Given the description of an element on the screen output the (x, y) to click on. 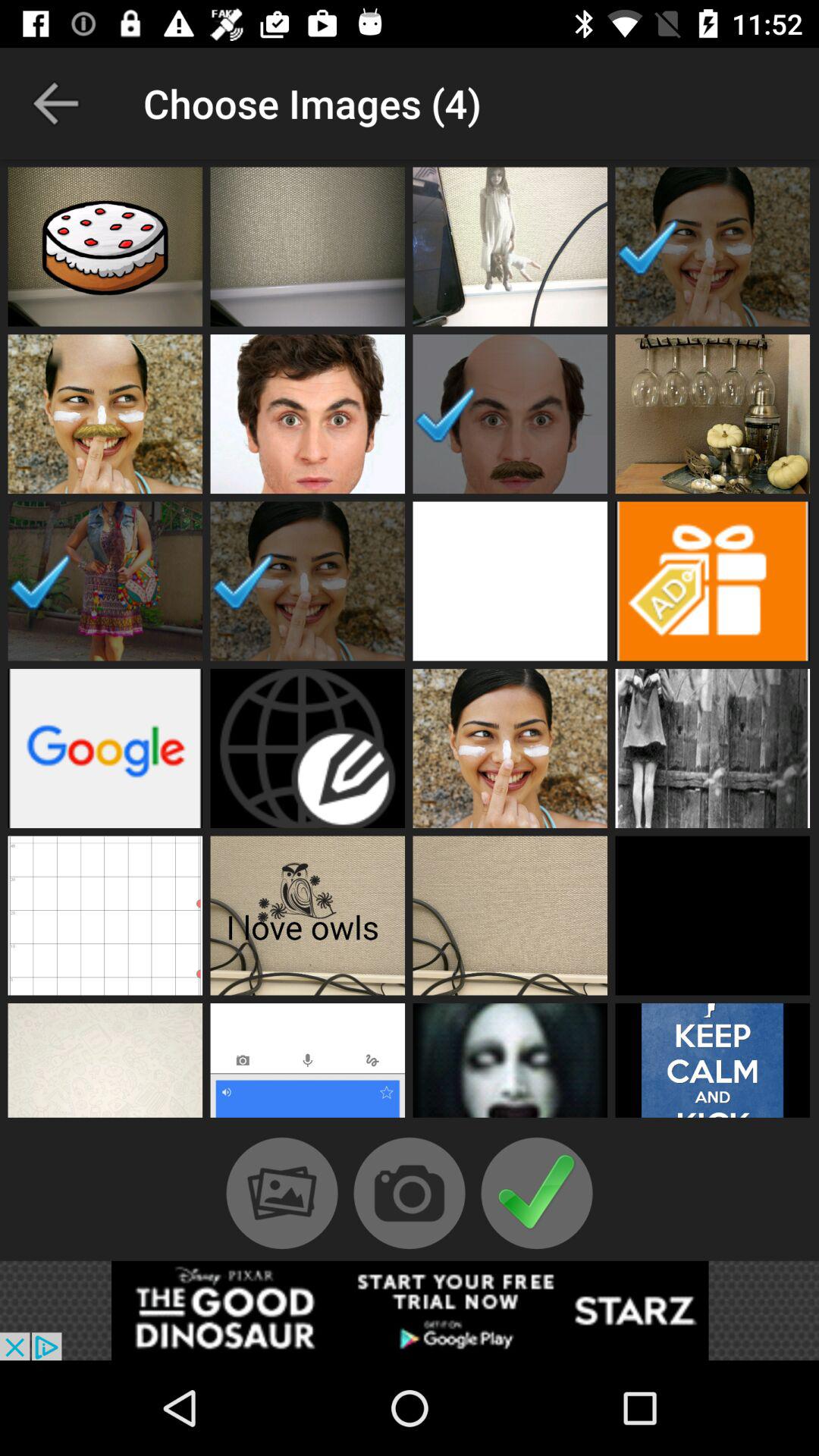
marcar mais uma imagem (104, 246)
